Given the description of an element on the screen output the (x, y) to click on. 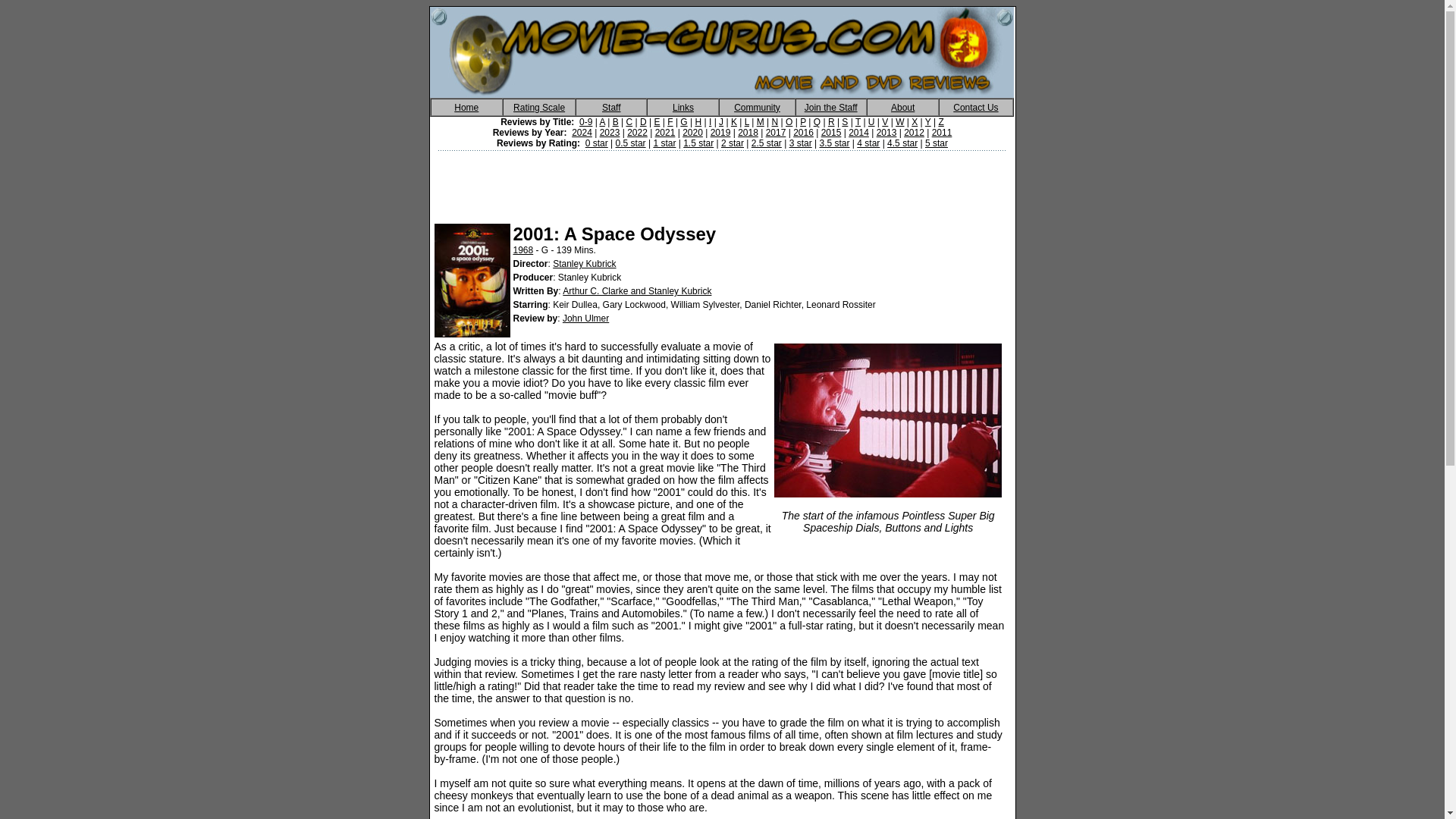
Join the Staff (831, 106)
2022 (637, 132)
Advertisement (722, 182)
2023 (609, 132)
2021 (665, 132)
Links (683, 106)
0-9 (585, 122)
Staff (611, 106)
Community (756, 106)
About (902, 106)
2024 (582, 132)
Contact Us (975, 106)
2020 (692, 132)
Rating Scale (538, 106)
Home (466, 106)
